Given the description of an element on the screen output the (x, y) to click on. 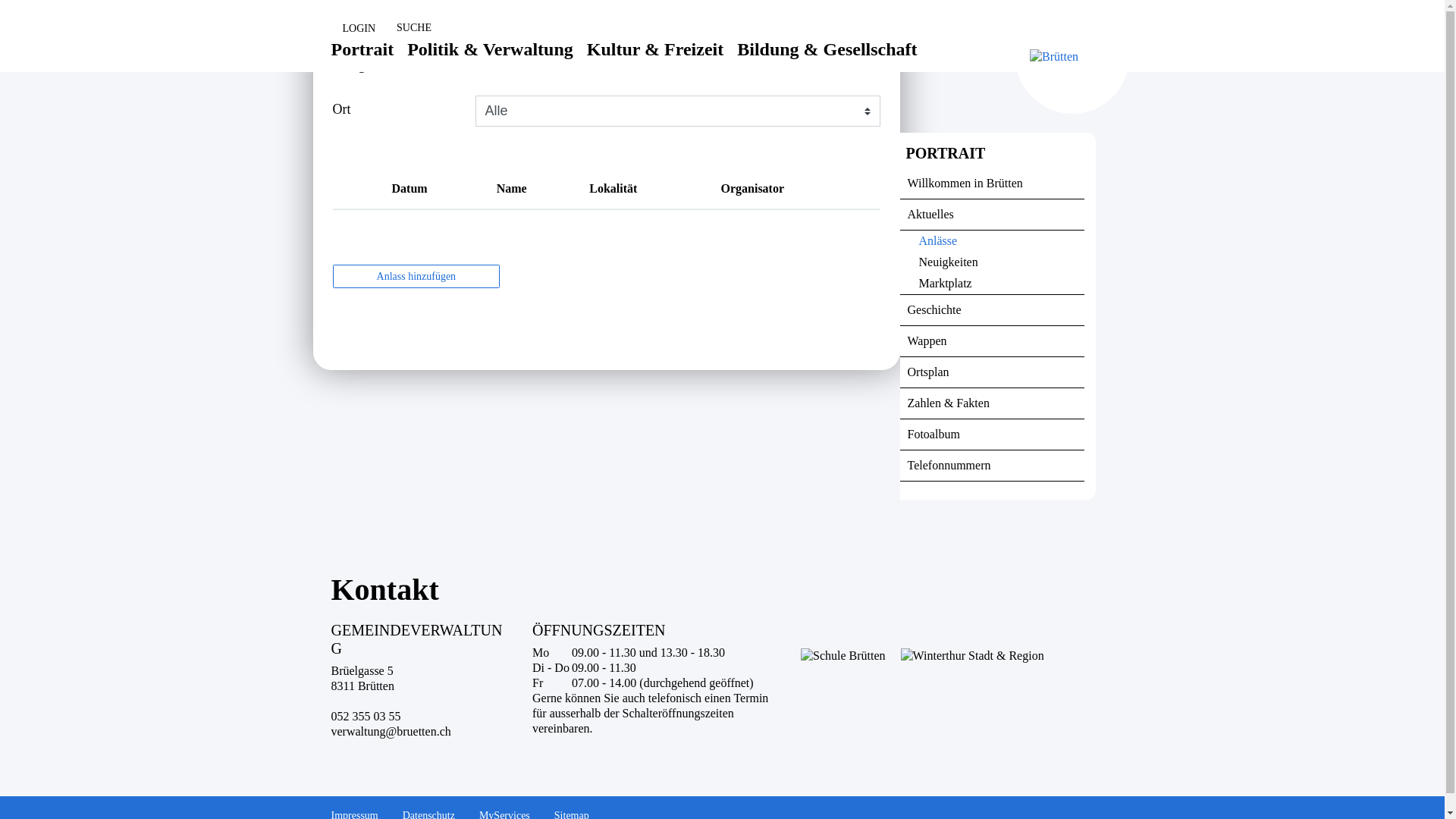
Marktplatz Element type: text (991, 283)
zur Startseite Element type: text (0, 0)
LOGIN Element type: text (352, 28)
verwaltung@bruetten.ch Element type: text (390, 730)
Aktuelles Element type: text (991, 214)
Neuigkeiten Element type: text (991, 262)
Portrait Element type: text (361, 61)
SUCHE Element type: text (408, 27)
Kultur & Freizeit Element type: text (654, 61)
Bildung & Gesellschaft Element type: text (826, 61)
PORTRAIT Element type: text (991, 156)
Politik & Verwaltung Element type: text (490, 61)
Wappen Element type: text (991, 341)
Fotoalbum Element type: text (991, 434)
052 355 03 55 Element type: text (365, 715)
Geschichte Element type: text (991, 310)
Ortsplan Element type: text (991, 372)
Zahlen & Fakten Element type: text (991, 403)
Telefonnummern Element type: text (991, 465)
